Given the description of an element on the screen output the (x, y) to click on. 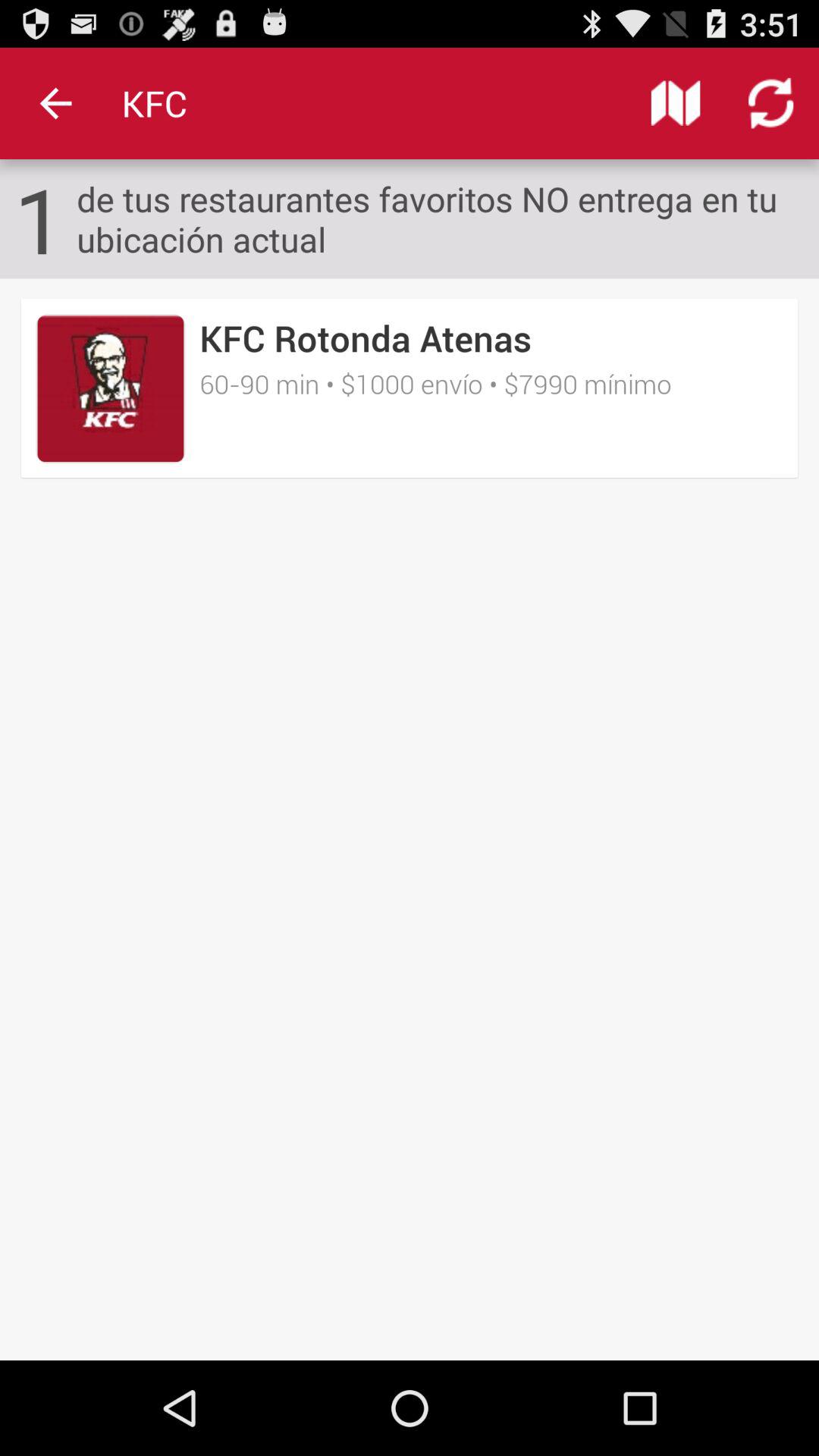
click 1 item (39, 218)
